Given the description of an element on the screen output the (x, y) to click on. 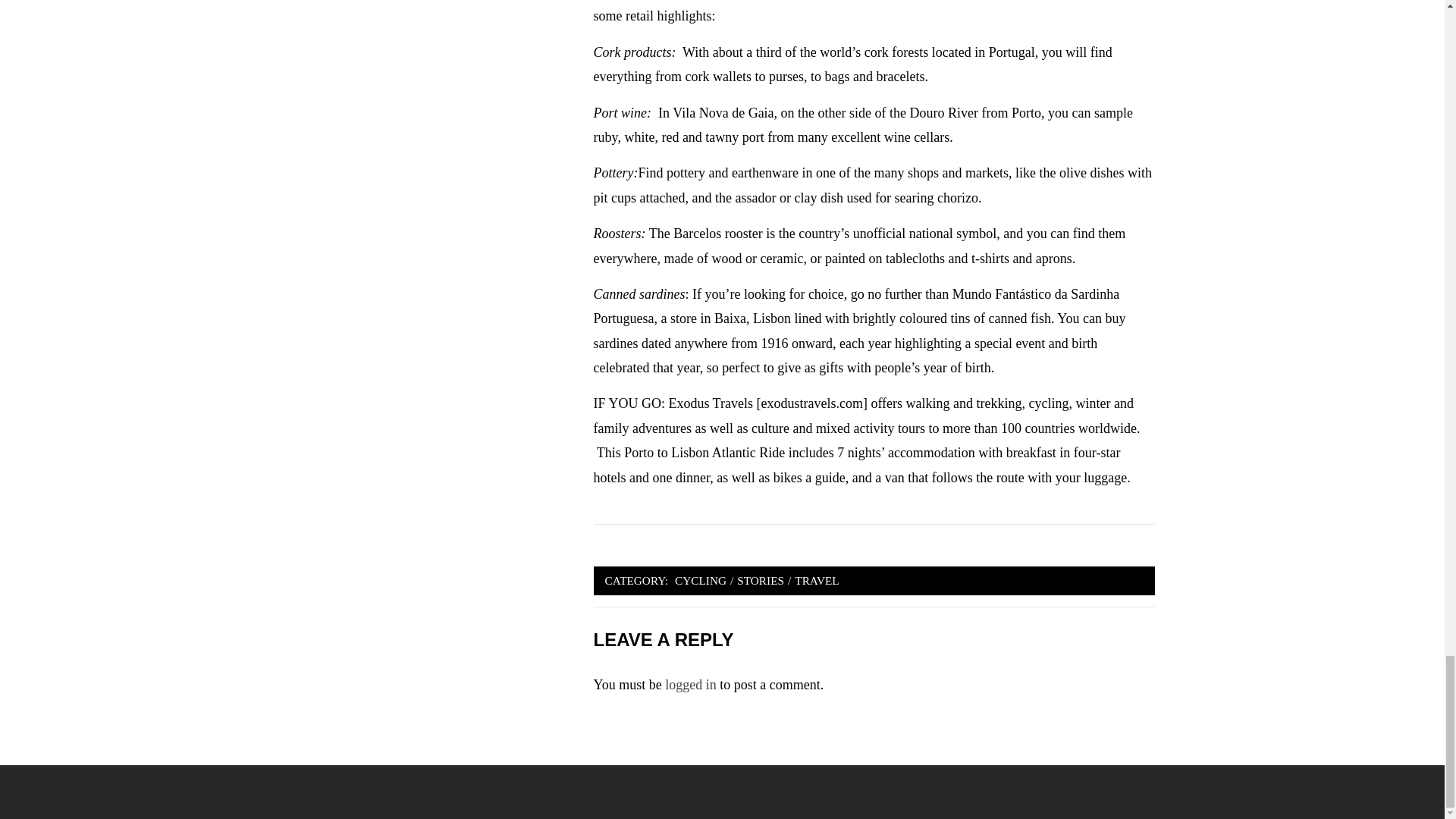
logged in (690, 684)
TRAVEL (816, 580)
STORIES (760, 580)
CYCLING (700, 580)
